Given the description of an element on the screen output the (x, y) to click on. 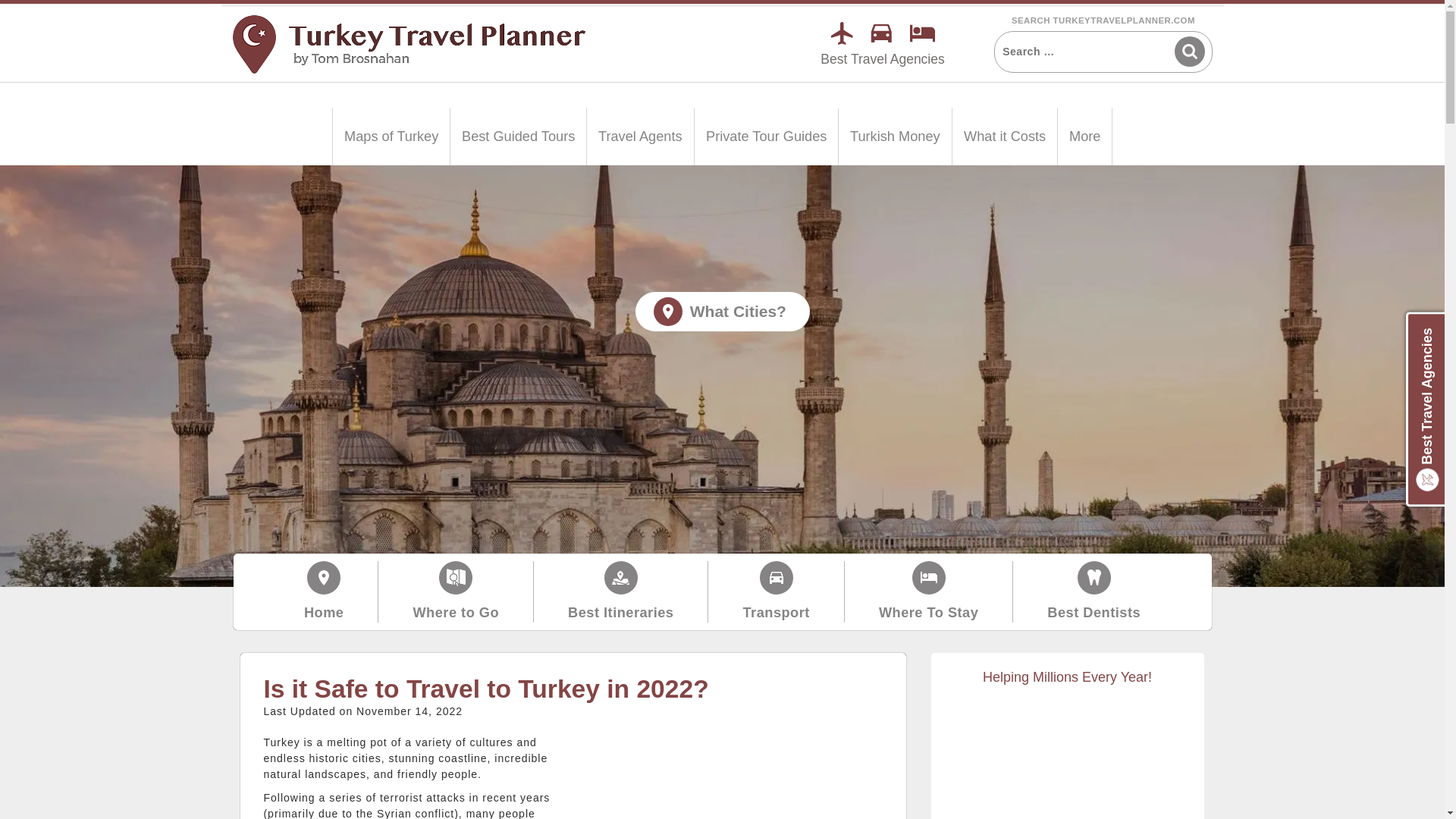
More (1084, 136)
Search (1188, 51)
Maps of Turkey (390, 136)
Is it Safe to Travel to Turkey in 2022? (734, 776)
Best Travel Agencies (882, 58)
Search (1188, 51)
Private Tour Guides (766, 136)
What it Costs (1004, 136)
Turkish Money (895, 136)
Search (1188, 51)
Travel Agents (640, 136)
 What Cities? (721, 311)
Best Guided Tours (518, 136)
